Given the description of an element on the screen output the (x, y) to click on. 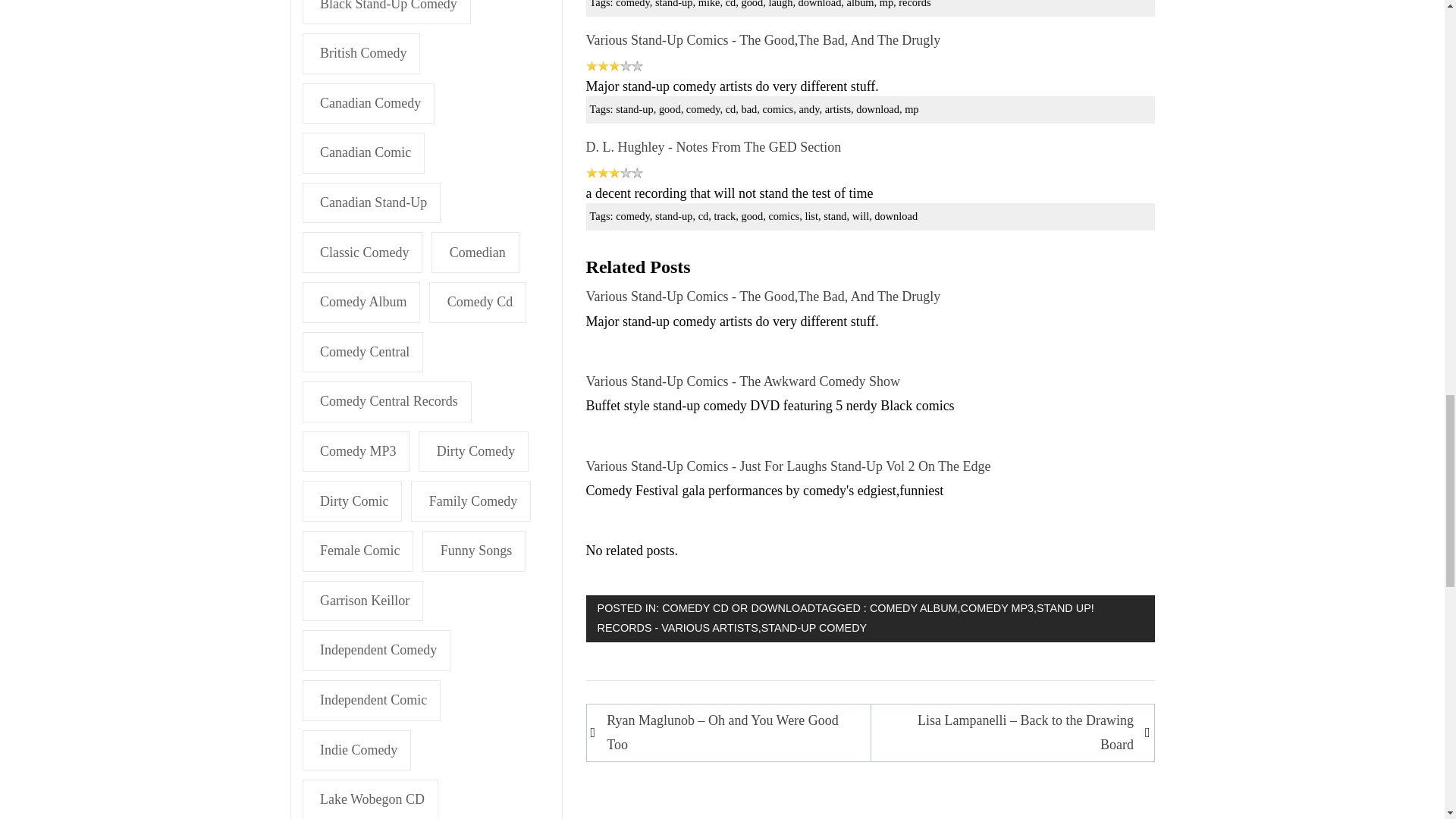
Various Stand-Up Comics - The Good,The Bad, And The Drugly (763, 296)
STAND-UP COMEDY (813, 627)
COMEDY CD OR DOWNLOAD (738, 607)
Various Stand-Up Comics - The Awkward Comedy Show (742, 381)
Various Stand-Up Comics - The Good,The Bad, And The Drugly (763, 39)
STAND UP! RECORDS - VARIOUS ARTISTS (845, 617)
COMEDY ALBUM (913, 607)
Various Stand-Up Comics - The Good,The Bad, And The Drugly (763, 39)
D. L. Hughley - Notes From The GED Section (713, 146)
